Given the description of an element on the screen output the (x, y) to click on. 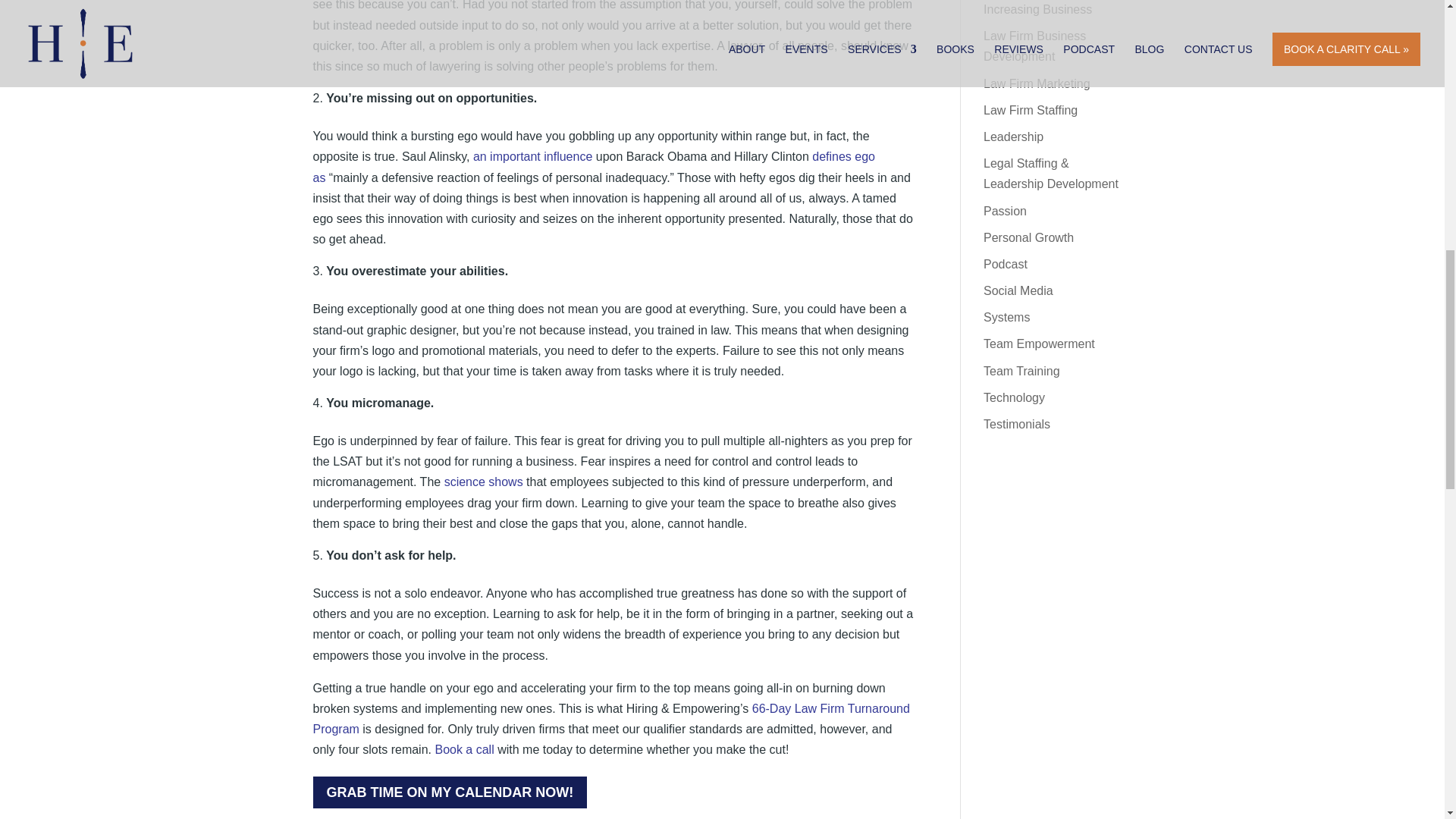
an important influence (532, 155)
GRAB TIME ON MY CALENDAR NOW! (449, 791)
science shows (483, 481)
defines ego as (594, 166)
Book a call (463, 748)
66-Day Law Firm Turnaround Program (610, 718)
